Given the description of an element on the screen output the (x, y) to click on. 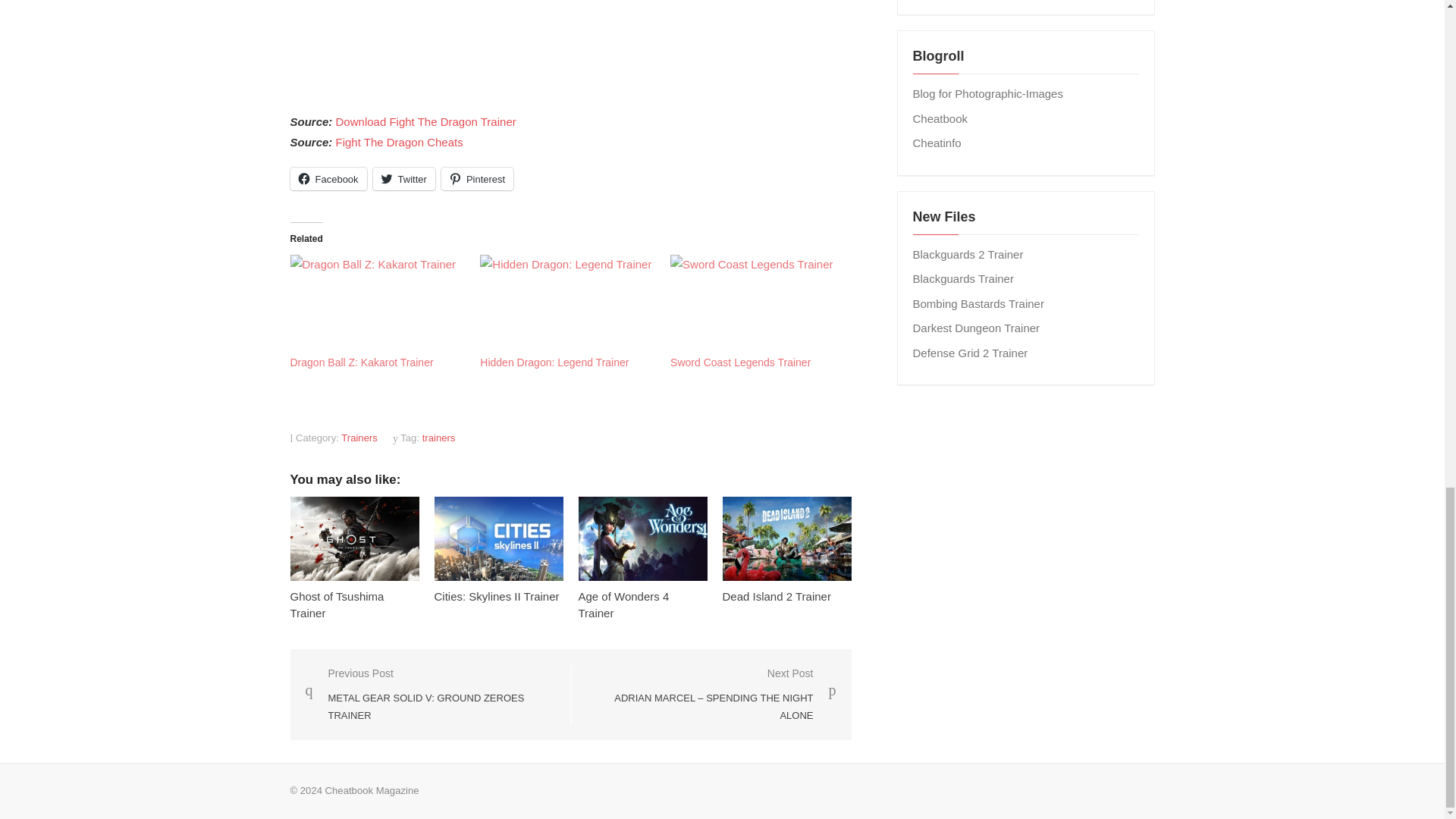
Hidden Dragon: Legend Trainer (554, 362)
Hidden Dragon: Legend Trainer (567, 304)
Trainers (358, 437)
Click to share on Pinterest (477, 178)
trainers (438, 437)
Pinterest (477, 178)
Click to share on Facebook (327, 178)
Cities: Skylines II Trainer (496, 595)
Dragon Ball Z: Kakarot Trainer (376, 304)
Ghost of Tsushima Trainer (336, 604)
